Given the description of an element on the screen output the (x, y) to click on. 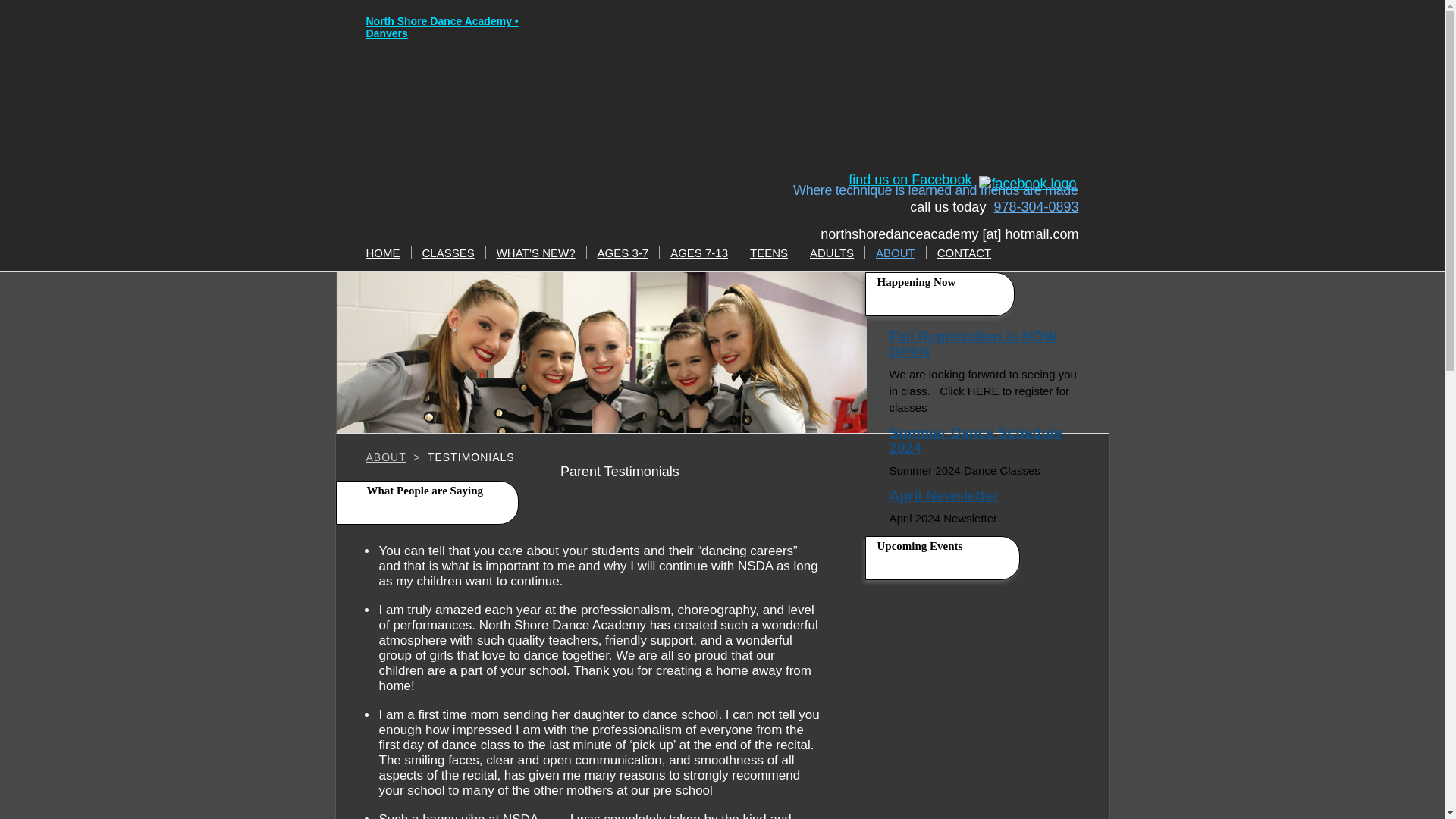
978-304-0893 (1035, 206)
ABOUT (385, 457)
AGES 3-7 (622, 252)
HOME (381, 252)
Summer Dance Schedule 2024 (987, 443)
Fall Registration is NOW OPEN (987, 347)
find us on Facebook (909, 179)
TEENS (768, 252)
CONTACT (964, 252)
CLASSES (448, 252)
